Given the description of an element on the screen output the (x, y) to click on. 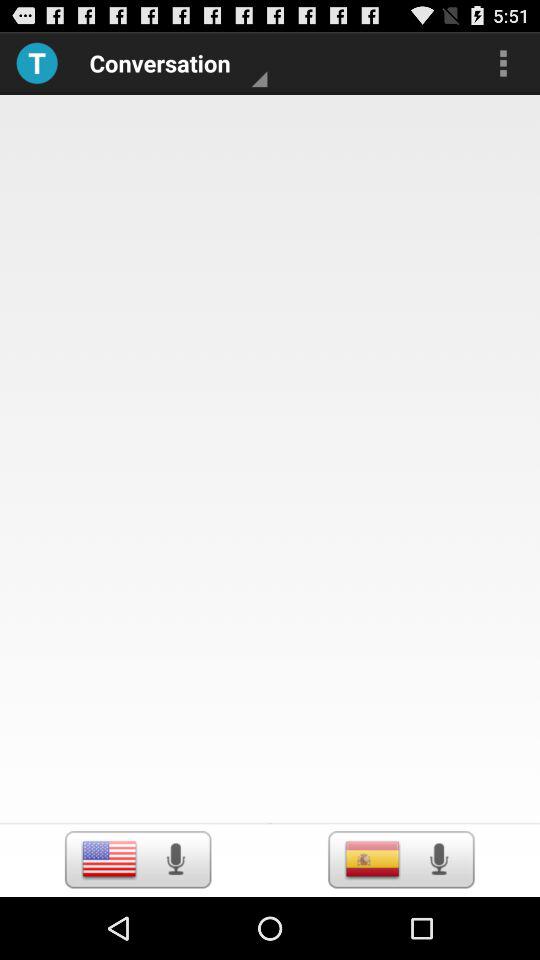
record english audio (175, 859)
